Given the description of an element on the screen output the (x, y) to click on. 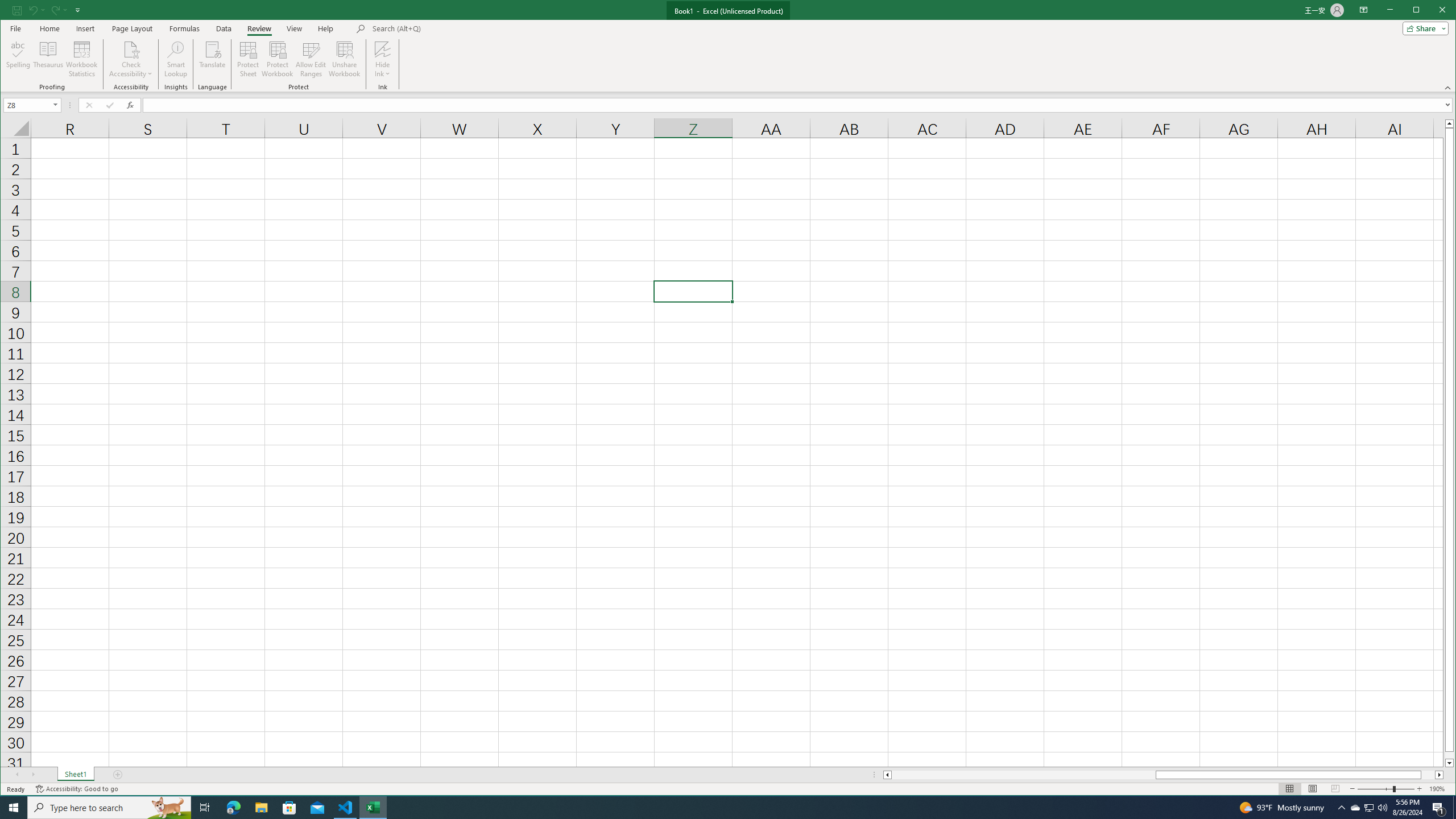
Show desktop (1454, 807)
Check Accessibility (130, 48)
Protect Workbook... (277, 59)
Q2790: 100% (1382, 807)
Start (1368, 807)
